Given the description of an element on the screen output the (x, y) to click on. 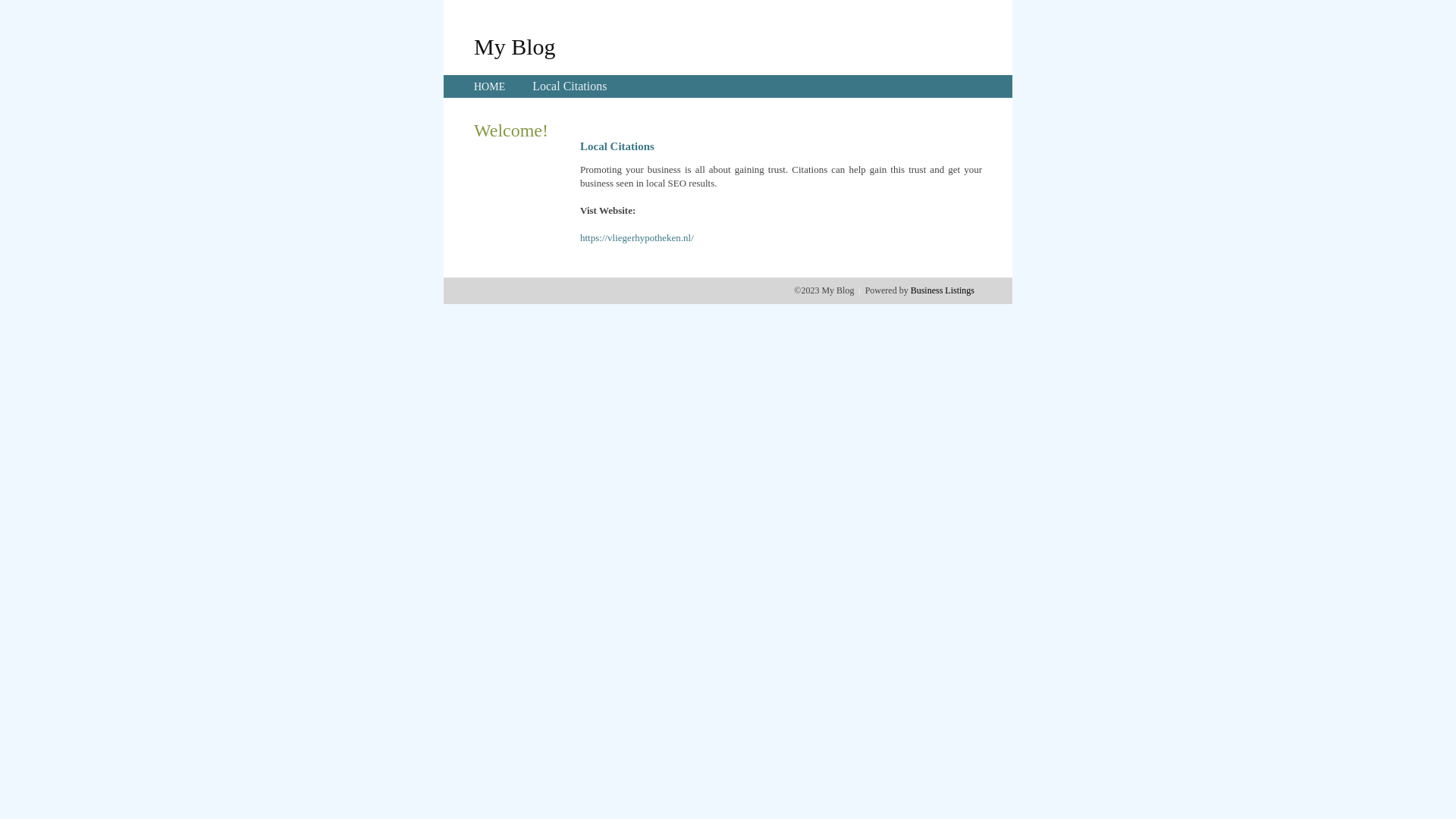
https://vliegerhypotheken.nl/ Element type: text (636, 237)
My Blog Element type: text (514, 46)
HOME Element type: text (489, 86)
Local Citations Element type: text (569, 85)
Business Listings Element type: text (942, 290)
